Given the description of an element on the screen output the (x, y) to click on. 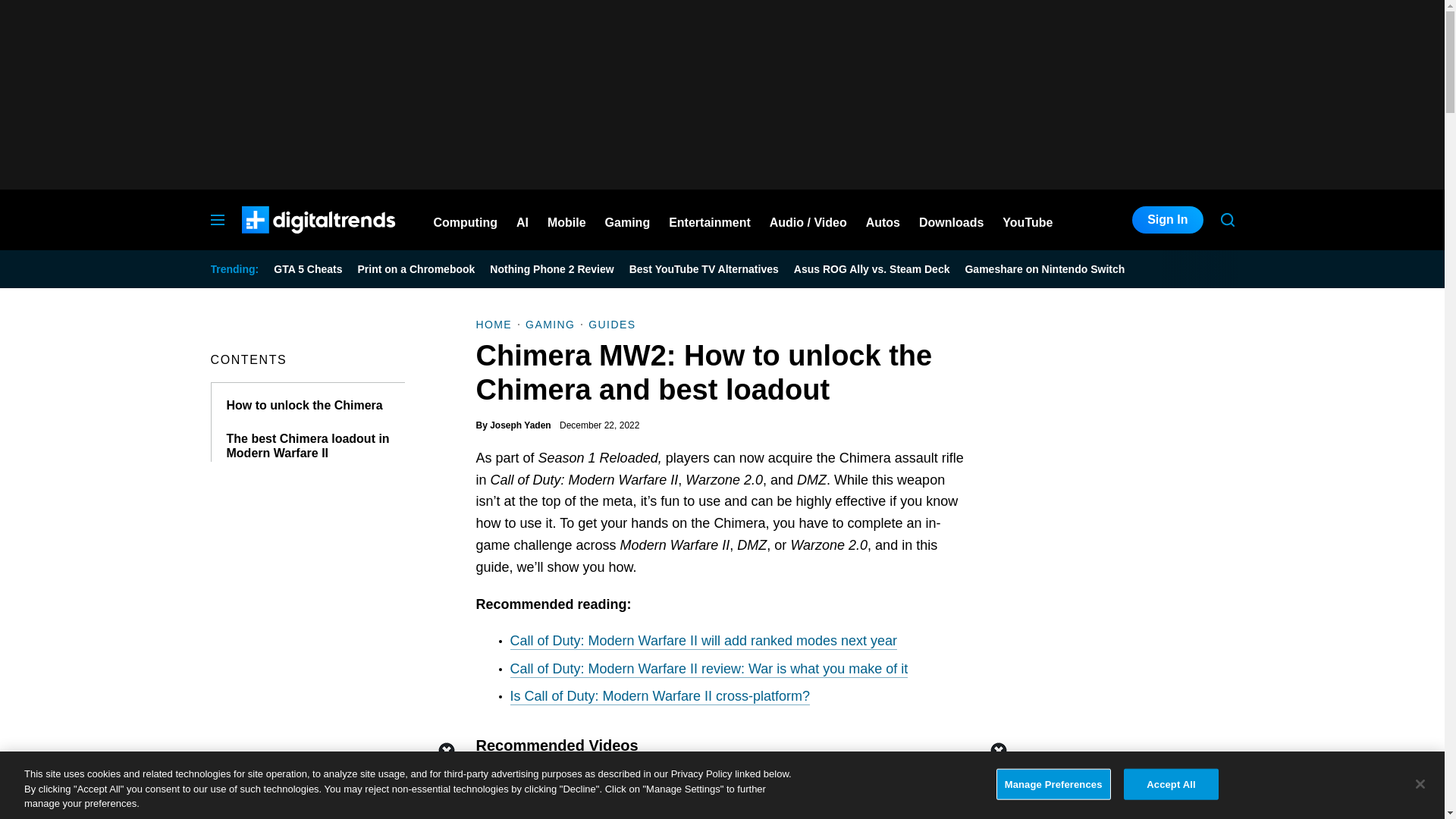
Sign In (1167, 219)
Downloads (951, 219)
3rd party ad content (1120, 674)
Computing (465, 219)
Entertainment (709, 219)
3rd party ad content (721, 785)
